Given the description of an element on the screen output the (x, y) to click on. 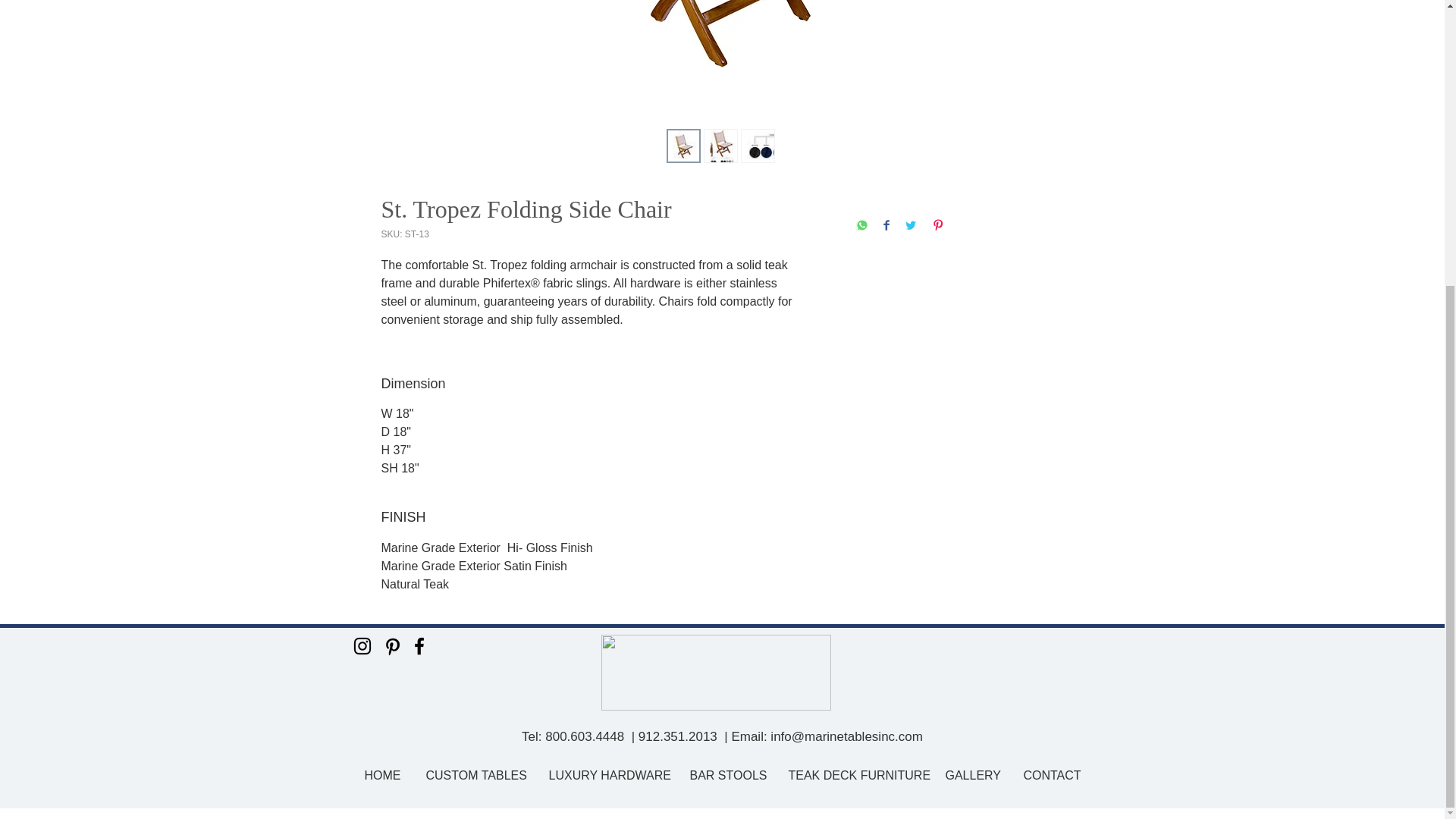
BAR STOOLS (727, 774)
HOME (381, 774)
CUSTOM TABLES (475, 774)
TEAK DECK FURNITURE (854, 774)
LUXURY HARDWARE (607, 774)
GALLERY (972, 774)
